Given the description of an element on the screen output the (x, y) to click on. 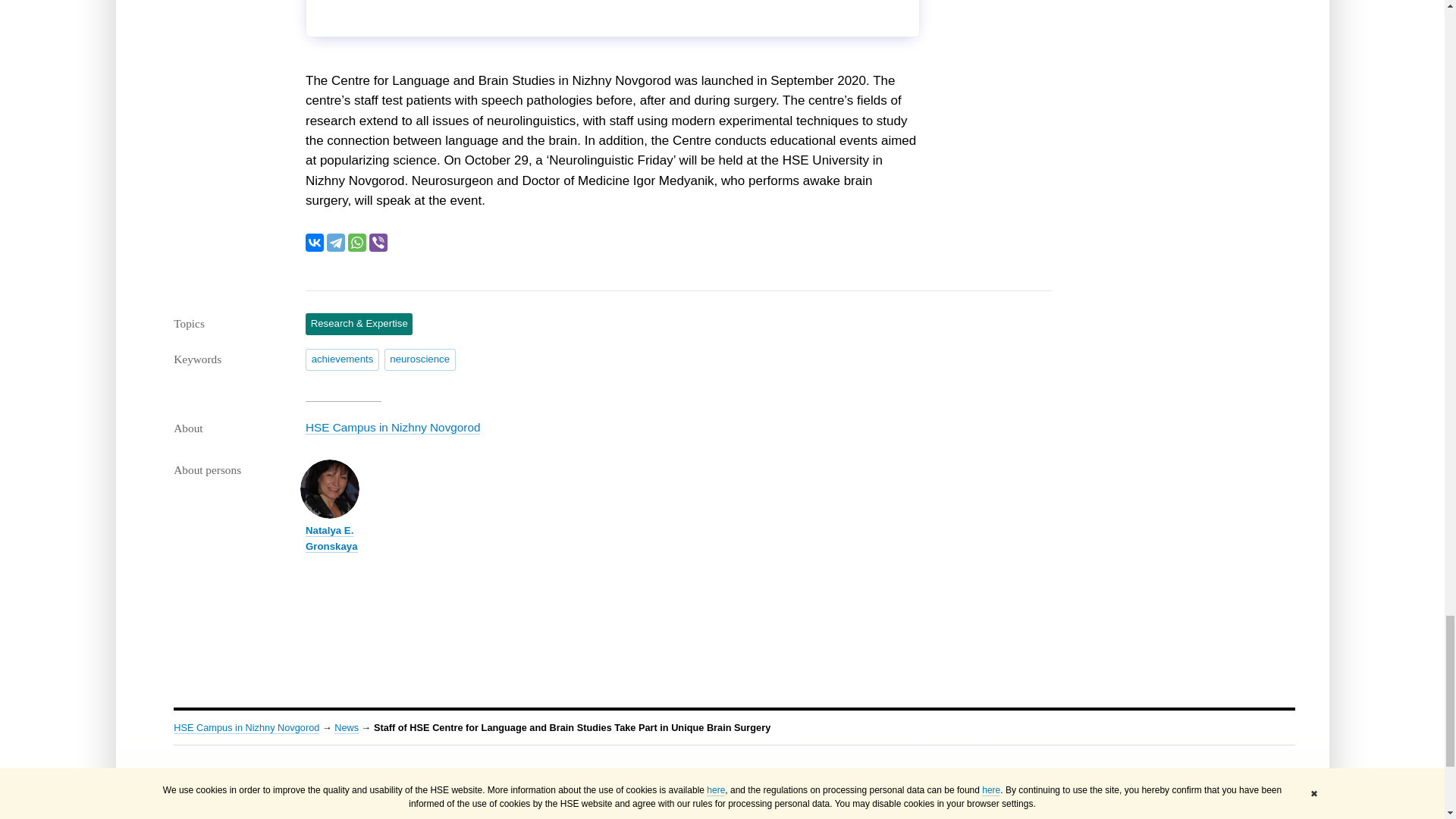
neuroscience (419, 359)
achievements (341, 359)
HSE Campus in Nizhny Novgorod (392, 427)
VKontakte (314, 242)
WhatsApp (356, 242)
Viber (378, 242)
Telegram (335, 242)
